Given the description of an element on the screen output the (x, y) to click on. 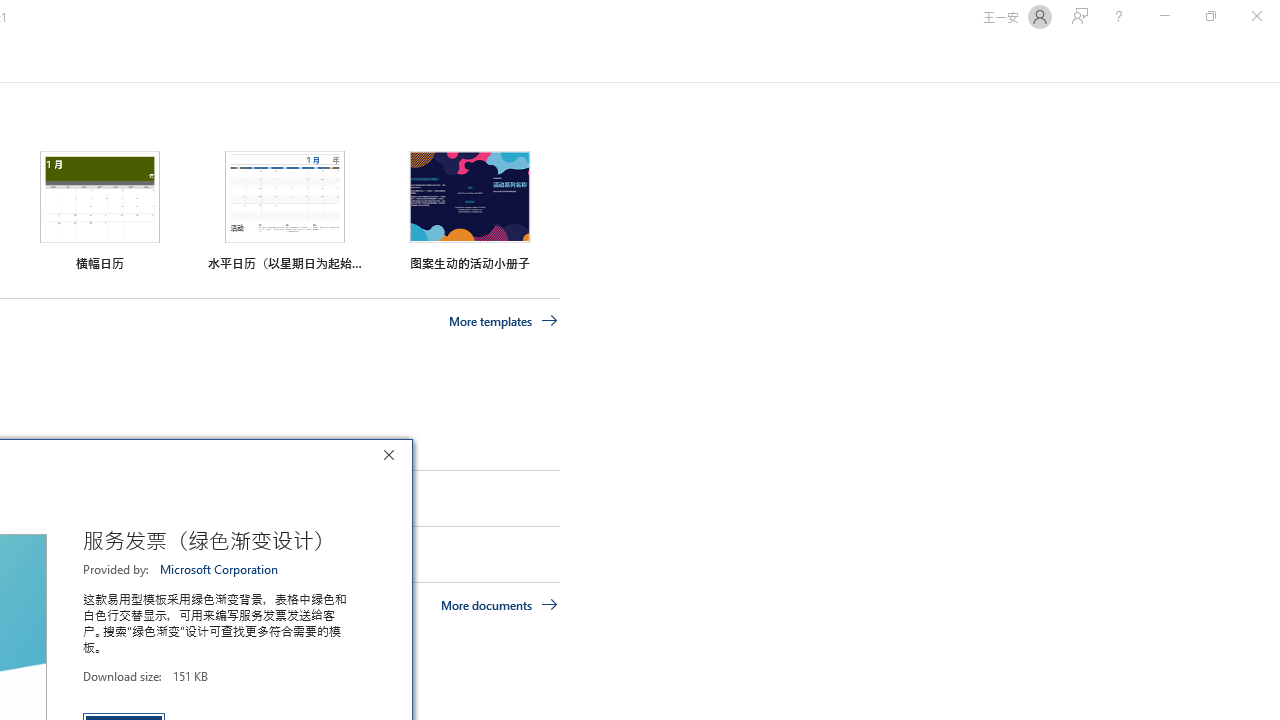
Microsoft Corporation (220, 569)
Restore Down (1210, 16)
Class: NetUIScrollBar (1271, 59)
Minimize (1164, 16)
More templates (503, 321)
More documents (499, 604)
Help (1118, 16)
